Given the description of an element on the screen output the (x, y) to click on. 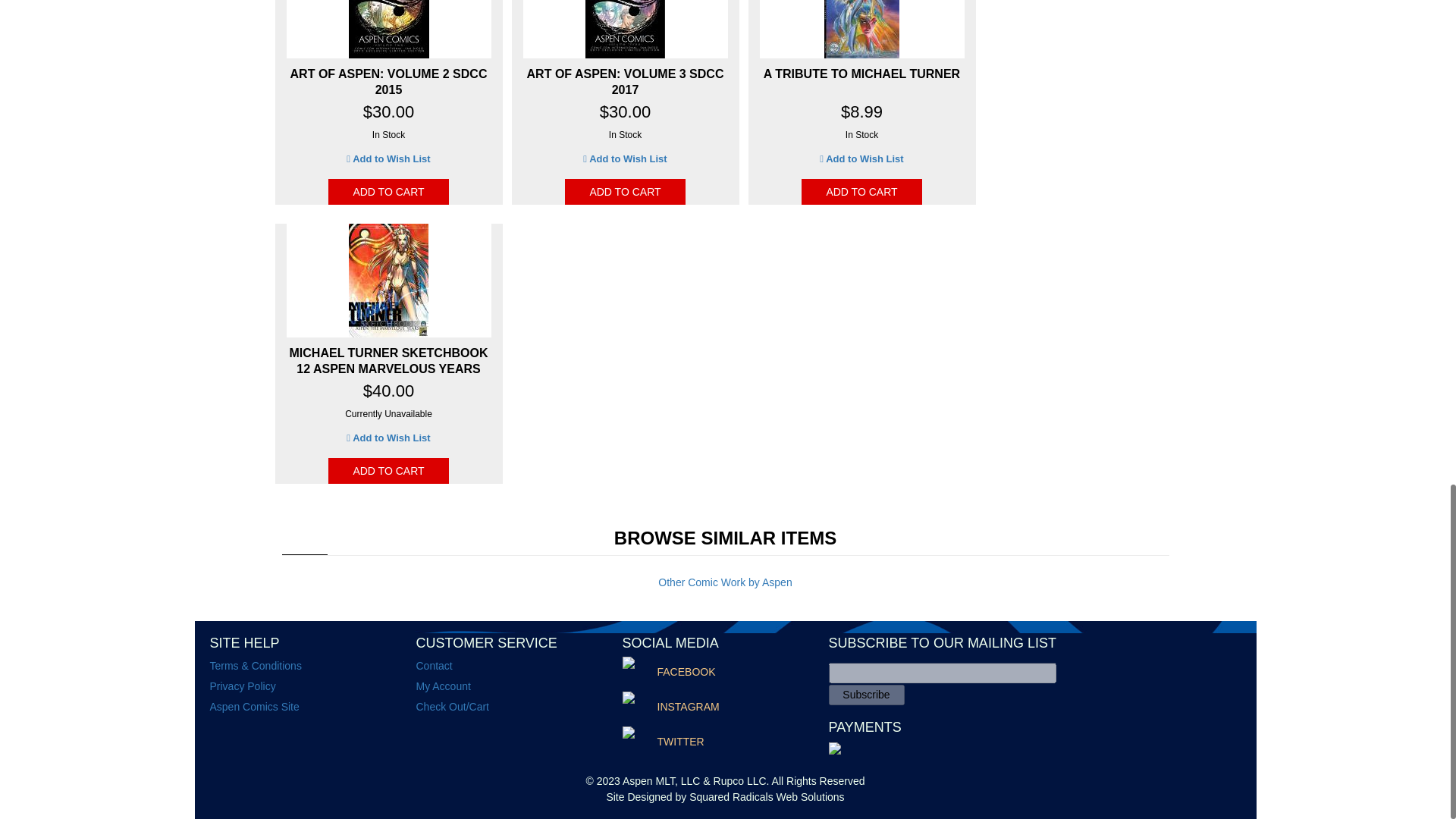
Subscribe (866, 694)
